Given the description of an element on the screen output the (x, y) to click on. 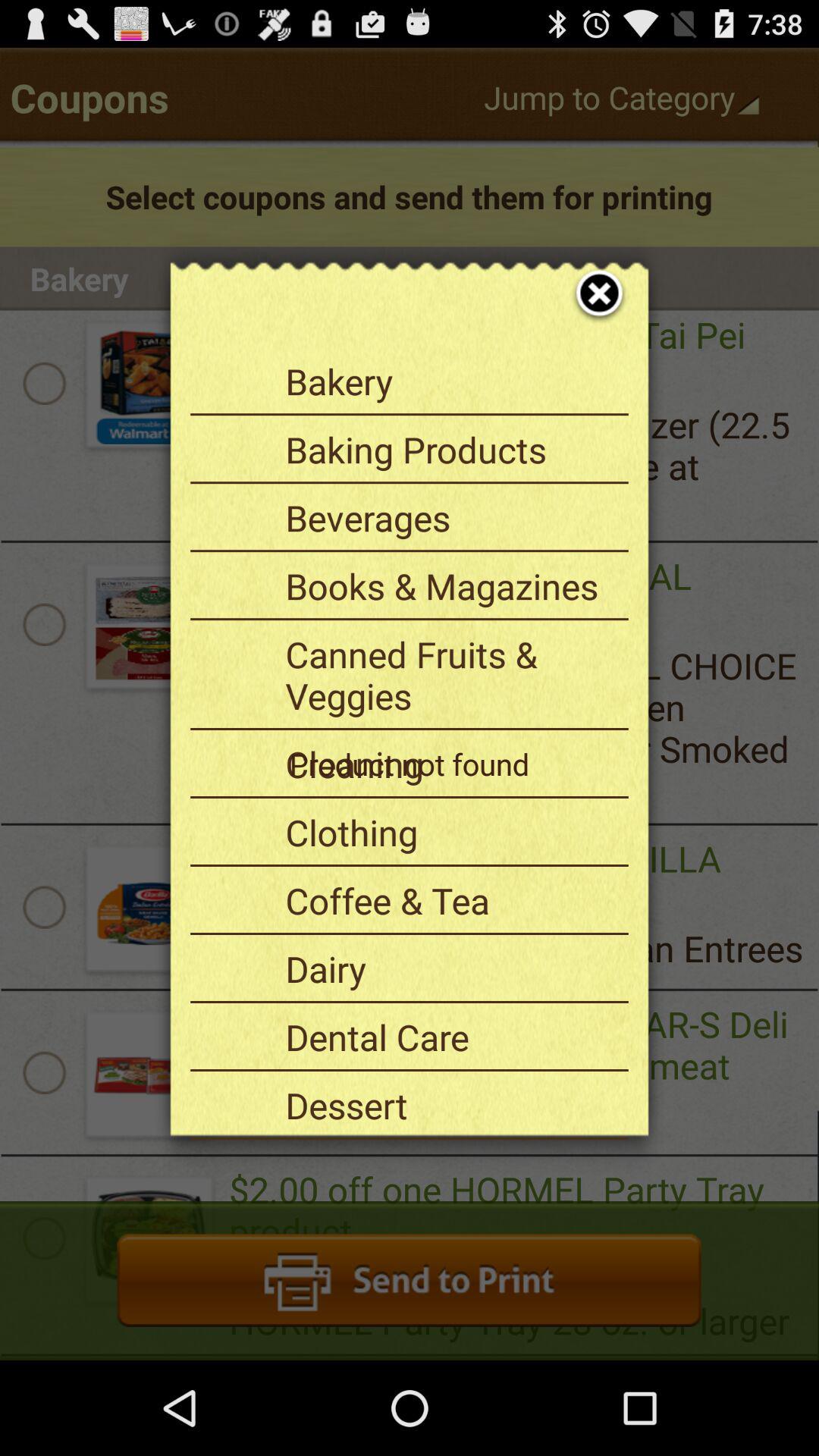
turn on the icon above bakery icon (589, 275)
